Given the description of an element on the screen output the (x, y) to click on. 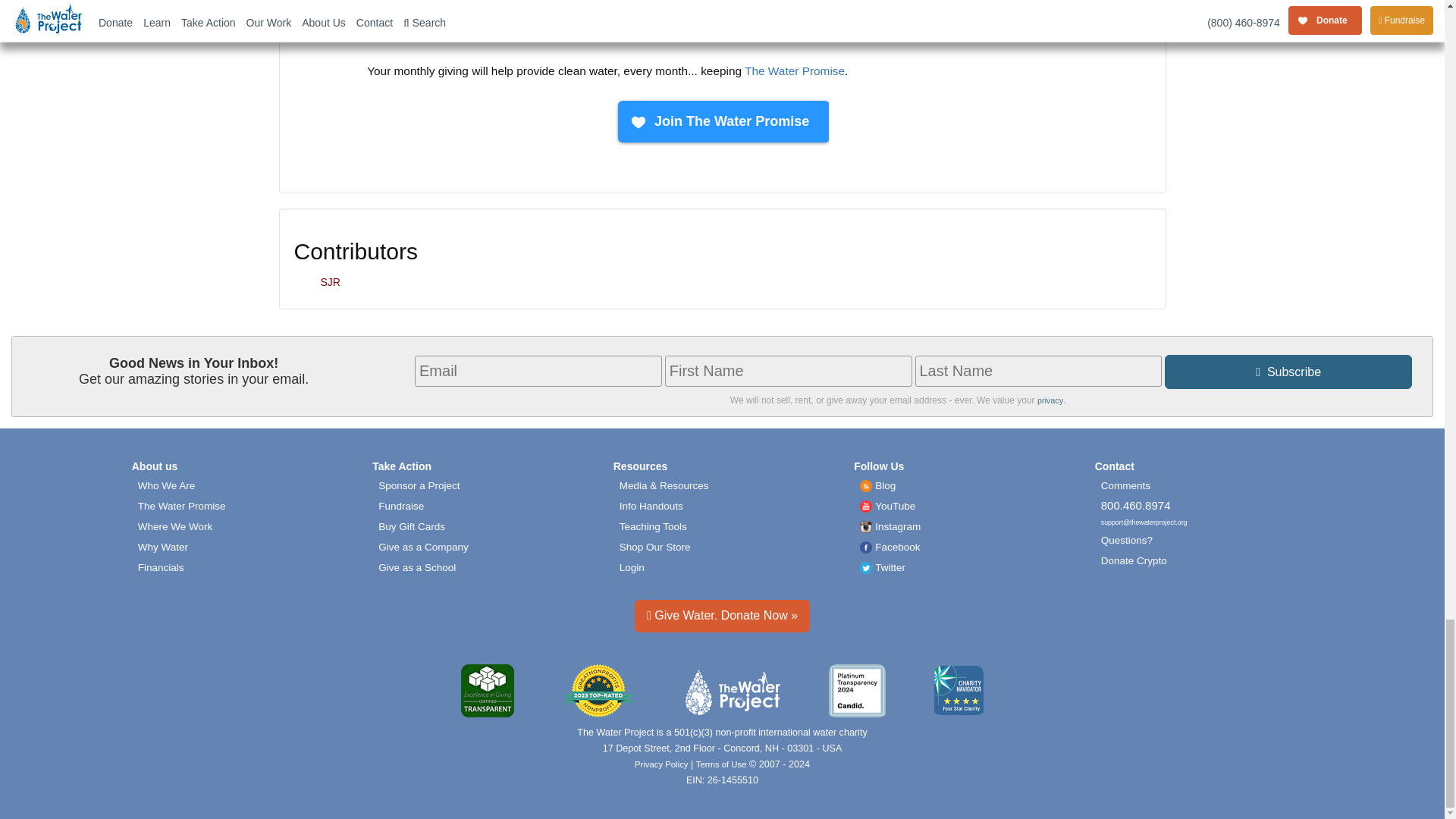
The Water Project logos and other brand assets (664, 485)
2023 Top-rated nonprofits and charities (597, 692)
Donate Button (721, 122)
